Given the description of an element on the screen output the (x, y) to click on. 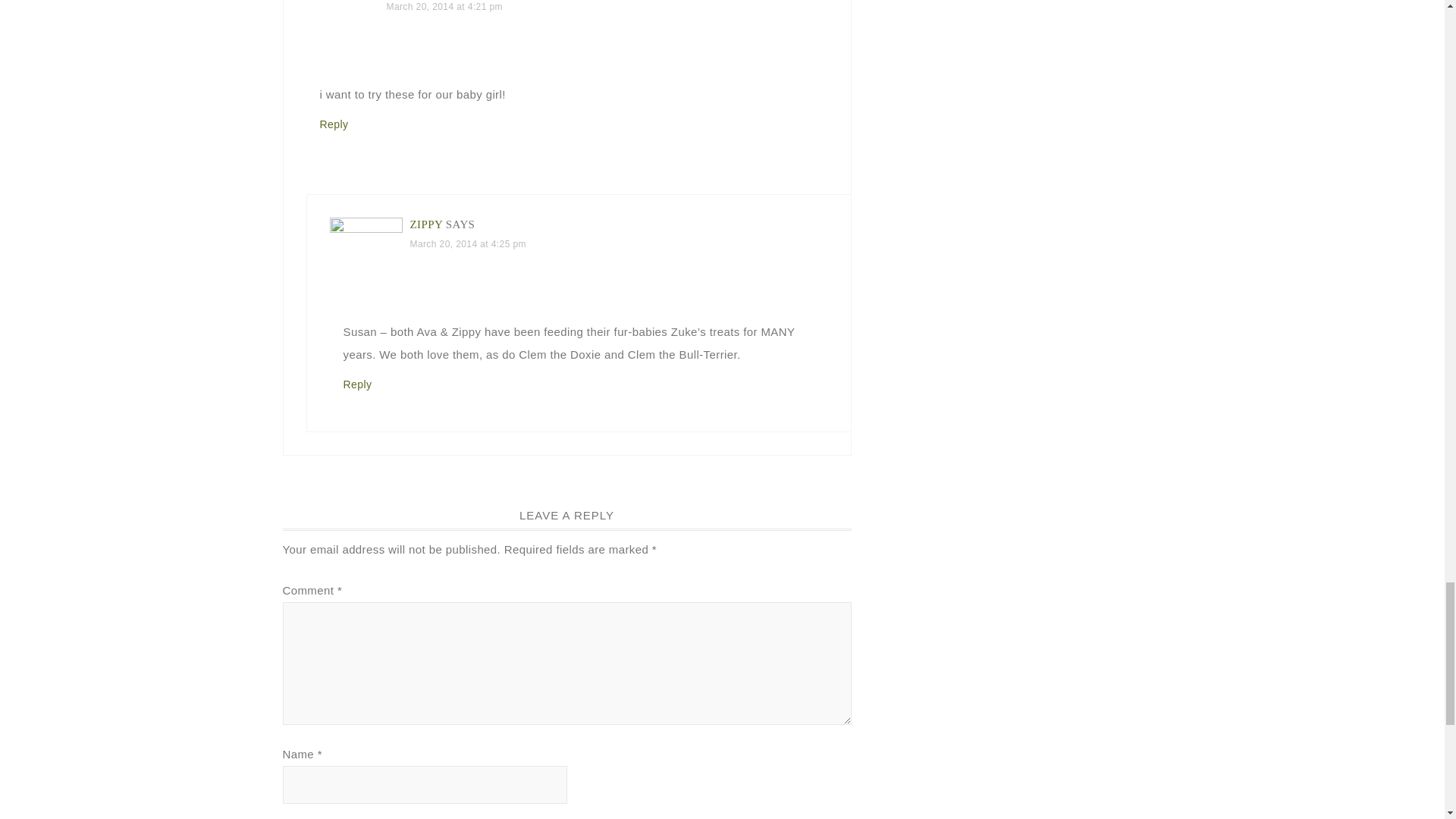
Reply (334, 123)
Reply (356, 384)
March 20, 2014 at 4:21 pm (444, 6)
March 20, 2014 at 4:25 pm (467, 244)
ZIPPY (425, 224)
